Given the description of an element on the screen output the (x, y) to click on. 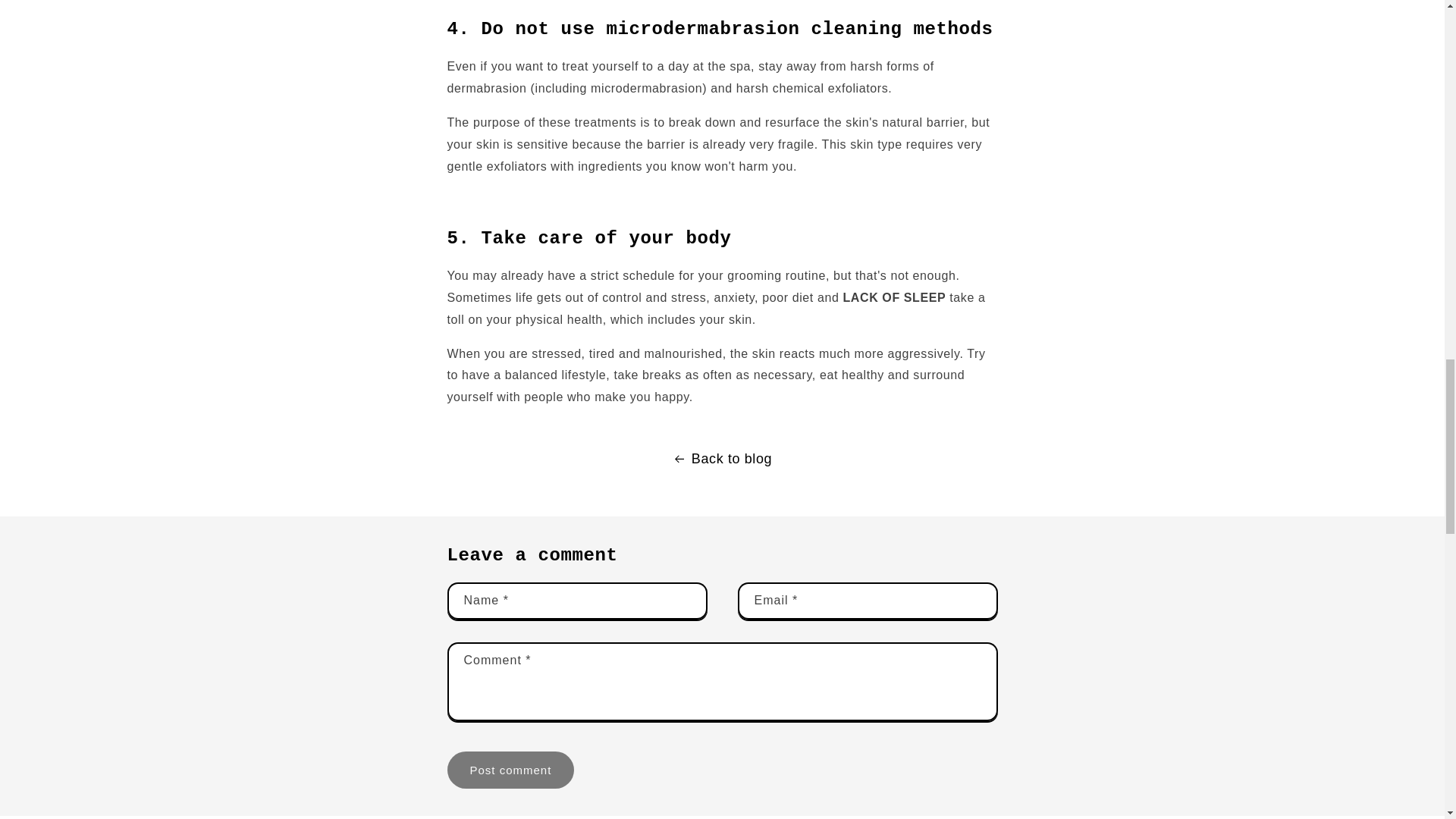
Post comment (510, 769)
